Given the description of an element on the screen output the (x, y) to click on. 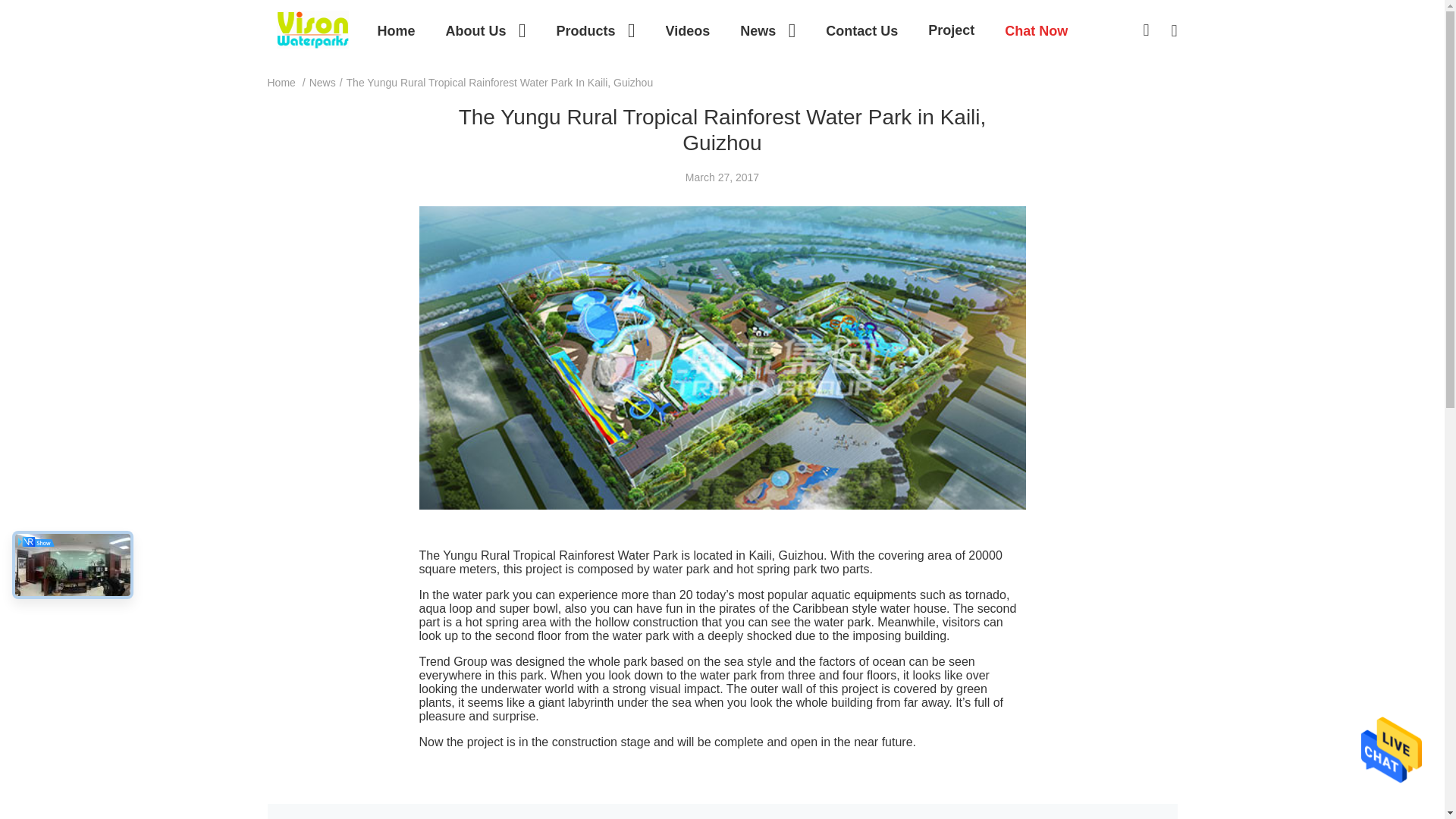
Products (595, 30)
GUANGZHOU VISON INTERNATIONAL WATER PARK EQUIPMENT CO.,LTD (312, 28)
Products (595, 30)
About Us (485, 30)
About Us (485, 30)
